Given the description of an element on the screen output the (x, y) to click on. 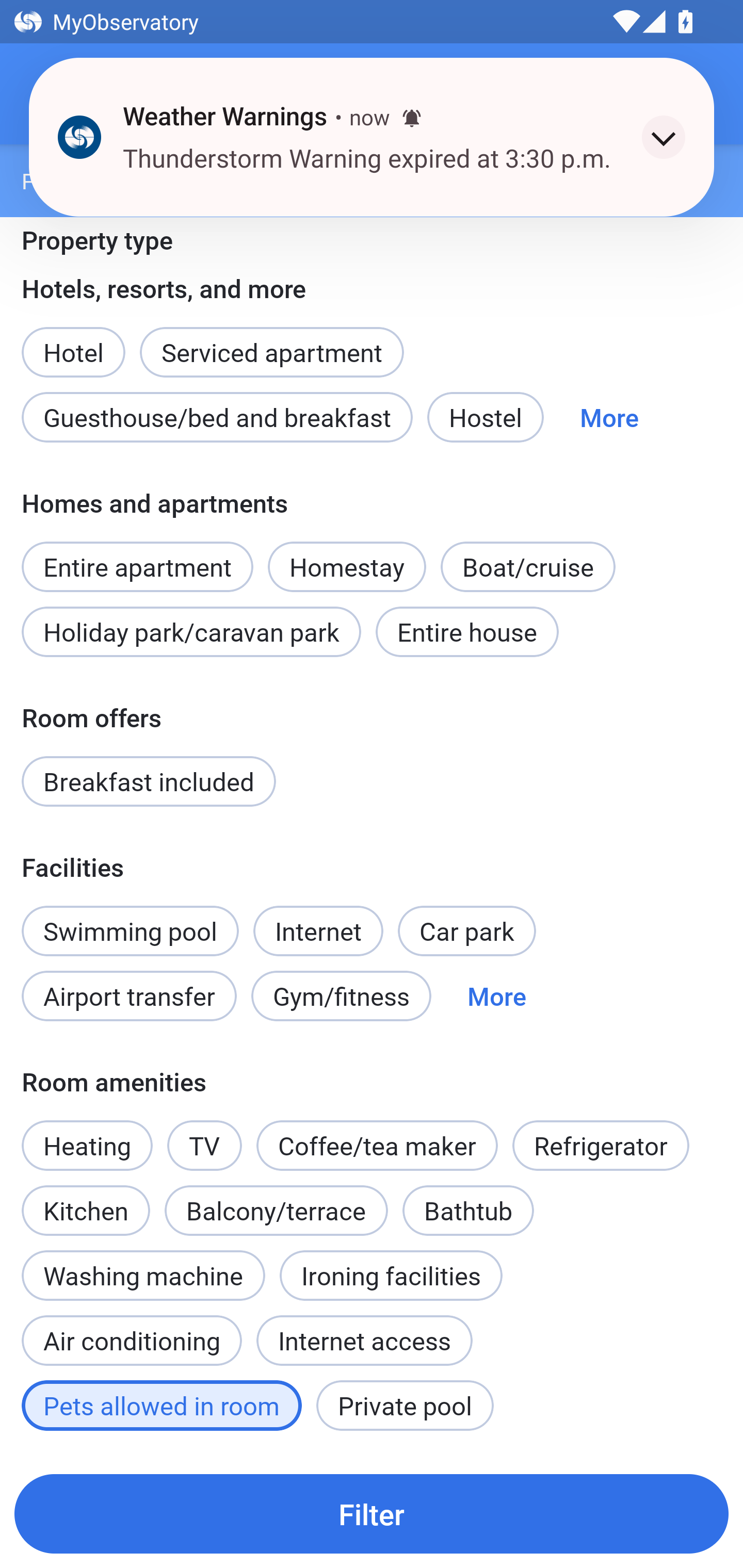
Clear (676, 93)
Hotel (73, 340)
Serviced apartment (271, 340)
Guesthouse/bed and breakfast (217, 416)
Hostel (485, 416)
More (608, 416)
Entire apartment (137, 555)
Homestay (346, 566)
Boat/cruise (527, 566)
Holiday park/caravan park (191, 631)
Entire house (466, 631)
Breakfast included (148, 781)
Swimming pool (130, 930)
Internet (318, 920)
Car park (466, 930)
Airport transfer (129, 996)
Gym/fitness (341, 996)
More (496, 996)
Heating (87, 1145)
TV (204, 1145)
Coffee/tea maker (376, 1145)
Refrigerator (600, 1145)
Kitchen (85, 1199)
Balcony/terrace (275, 1210)
Bathtub (468, 1210)
Washing machine (143, 1275)
Ironing facilities (390, 1275)
Air conditioning (131, 1329)
Internet access (364, 1340)
Private pool (405, 1405)
Filter (371, 1513)
